Given the description of an element on the screen output the (x, y) to click on. 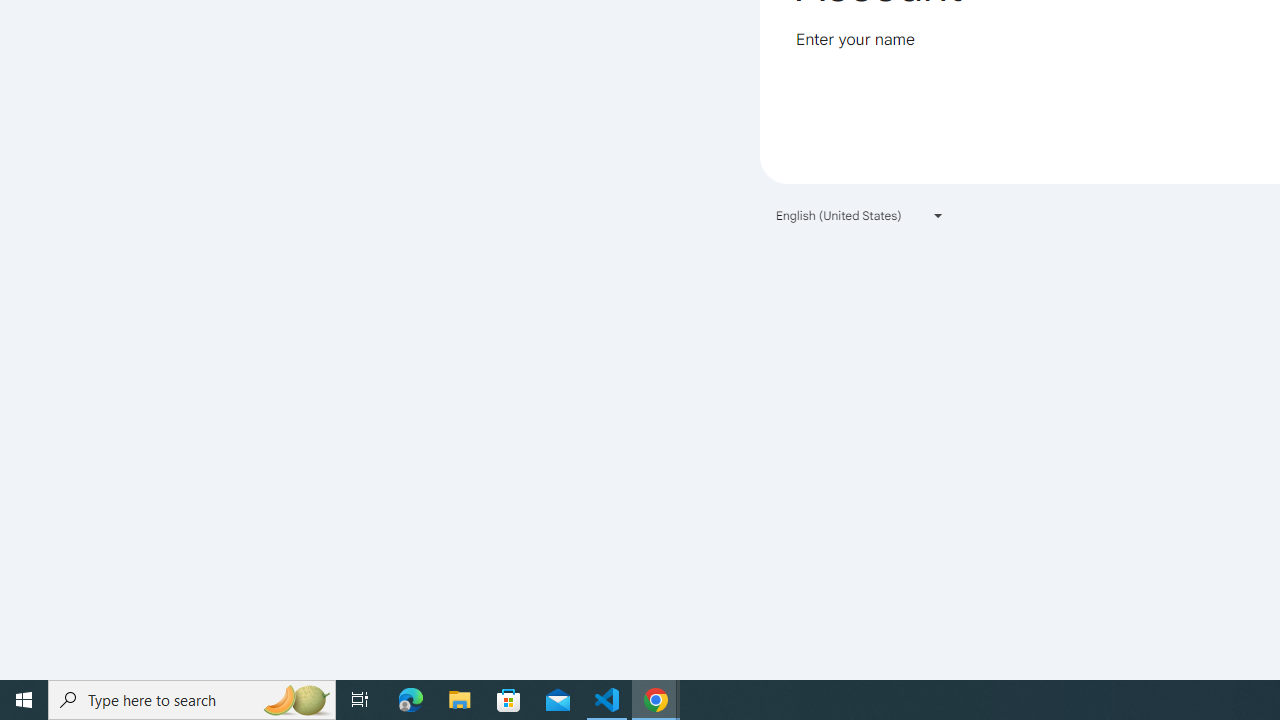
English (United States) (860, 214)
